Given the description of an element on the screen output the (x, y) to click on. 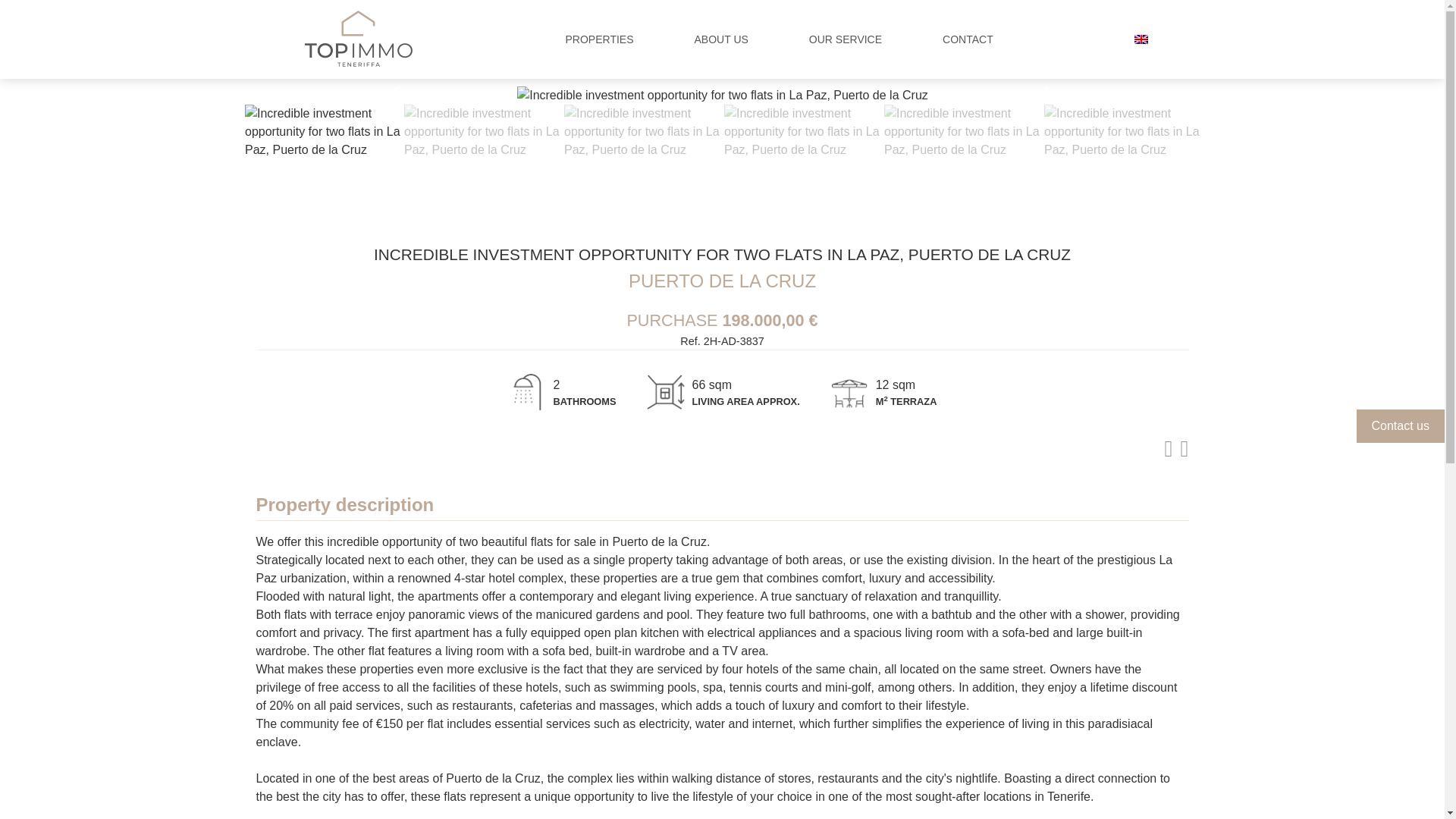
PROPERTIES (599, 38)
OUR SERVICE (845, 38)
CONTACT (967, 38)
ABOUT US (720, 38)
